Given the description of an element on the screen output the (x, y) to click on. 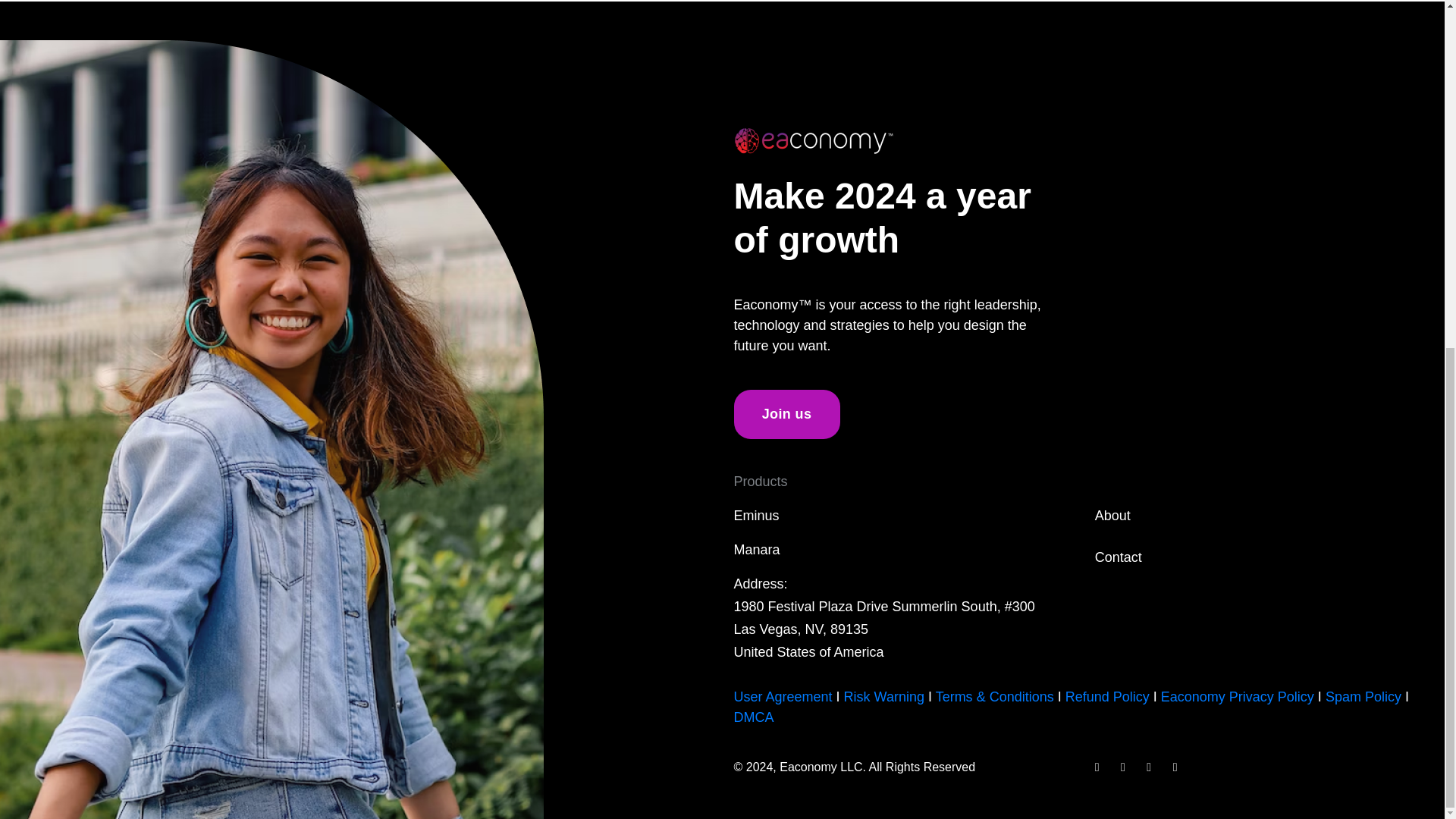
Refund Policy (1107, 696)
Join us (786, 413)
Risk Warning (884, 696)
User Agreement (782, 696)
Eminus (755, 515)
Contact (1117, 557)
Spam Policy (1362, 696)
Manara (756, 549)
About (1112, 515)
Eaconomy Privacy Policy (1237, 696)
